Given the description of an element on the screen output the (x, y) to click on. 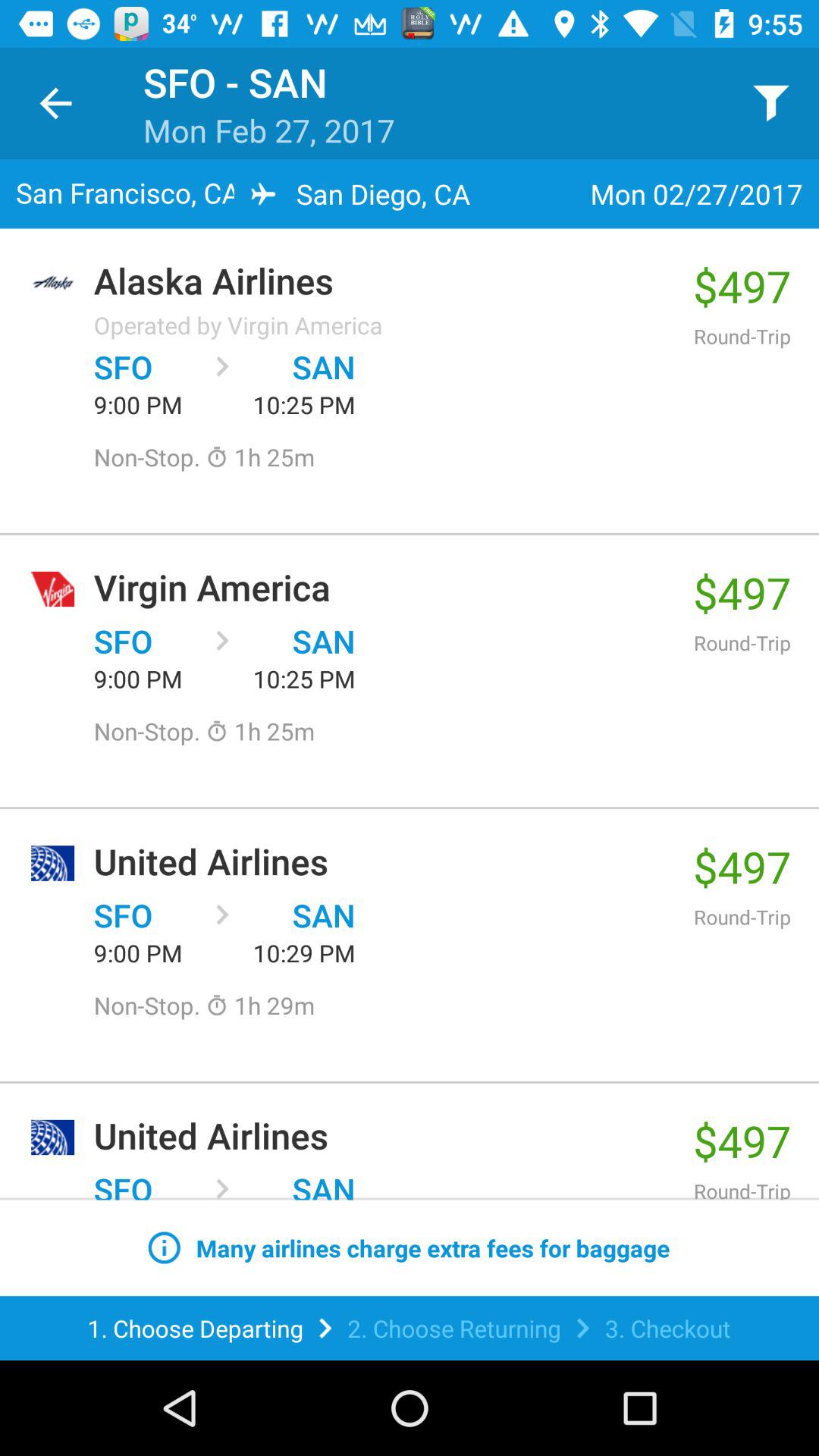
launch the item above operated by virgin icon (385, 280)
